Given the description of an element on the screen output the (x, y) to click on. 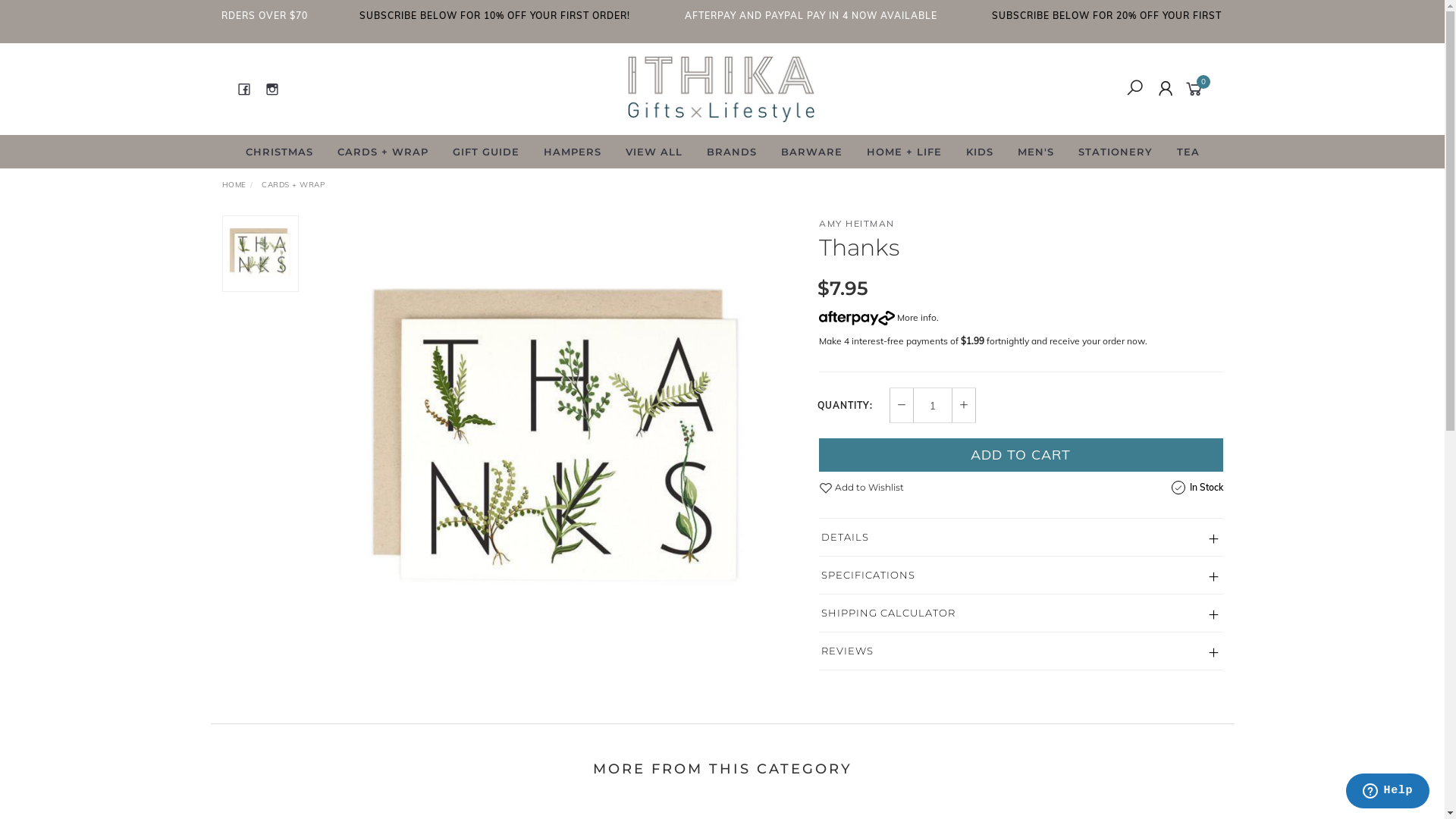
Opens a widget where you can chat to one of our agents Element type: hover (1387, 792)
KIDS Element type: text (979, 151)
MEN'S Element type: text (1035, 151)
ADD TO CART Element type: text (1021, 454)
SHIPPING CALCULATOR Element type: text (1021, 612)
AMY HEITMAN Element type: text (856, 223)
HOME + LIFE Element type: text (903, 151)
More info Element type: text (877, 317)
TEA Element type: text (1188, 151)
GIFT GUIDE Element type: text (485, 151)
Ithika Gifts + Lifestyle Element type: hover (720, 87)
CARDS + WRAP Element type: text (293, 184)
CHRISTMAS Element type: text (279, 151)
REVIEWS Element type: text (1021, 650)
HAMPERS Element type: text (571, 151)
BRANDS Element type: text (731, 151)
DETAILS Element type: text (1021, 536)
VIEW ALL Element type: text (653, 151)
0 Element type: text (1196, 87)
CARDS + WRAP Element type: text (382, 151)
Add to Wishlist Element type: text (861, 486)
BARWARE Element type: text (811, 151)
Large View Element type: hover (558, 442)
SPECIFICATIONS Element type: text (1021, 574)
HOME Element type: text (233, 184)
STATIONERY Element type: text (1115, 151)
